Given the description of an element on the screen output the (x, y) to click on. 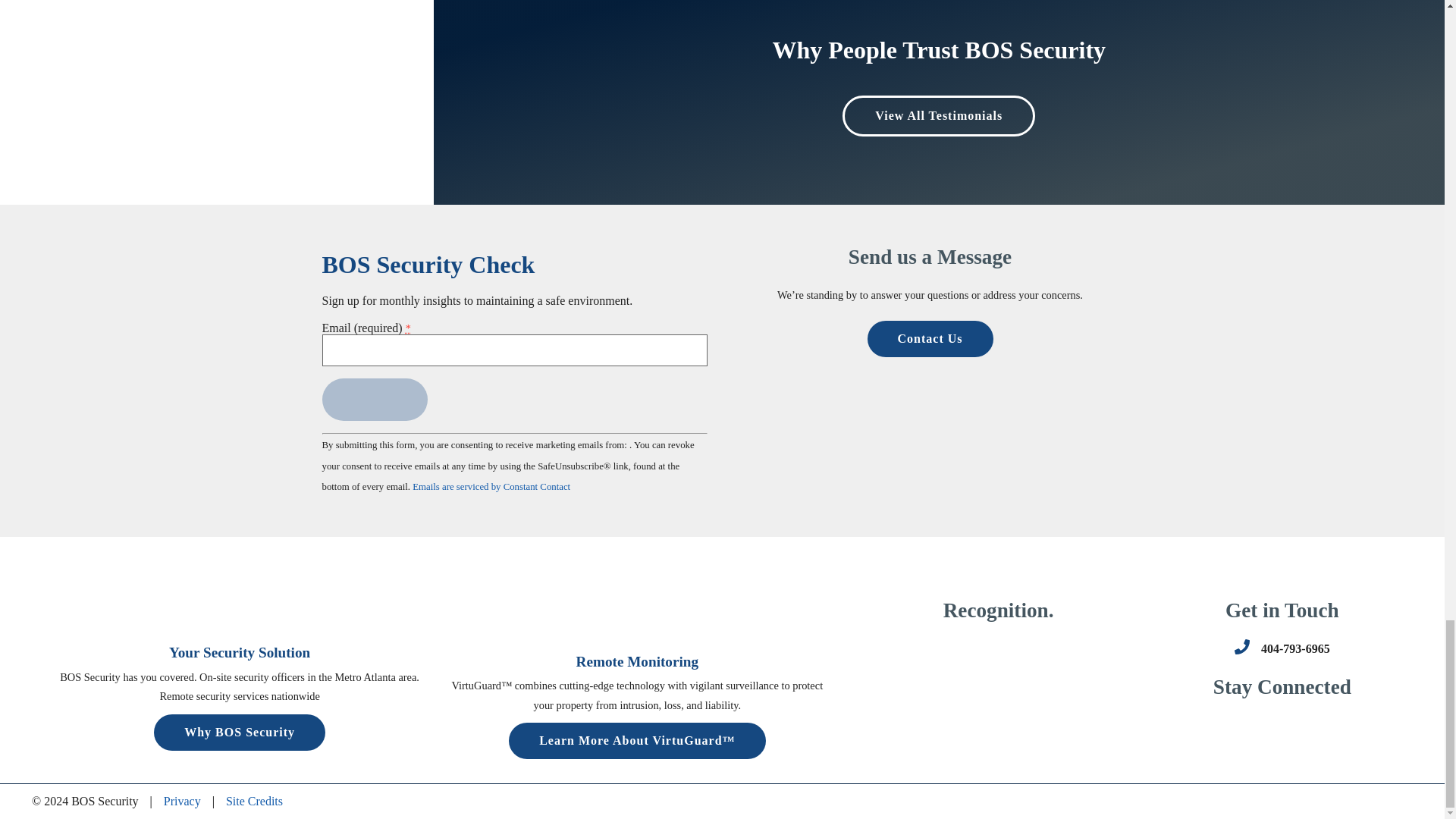
Sign up (373, 399)
